Given the description of an element on the screen output the (x, y) to click on. 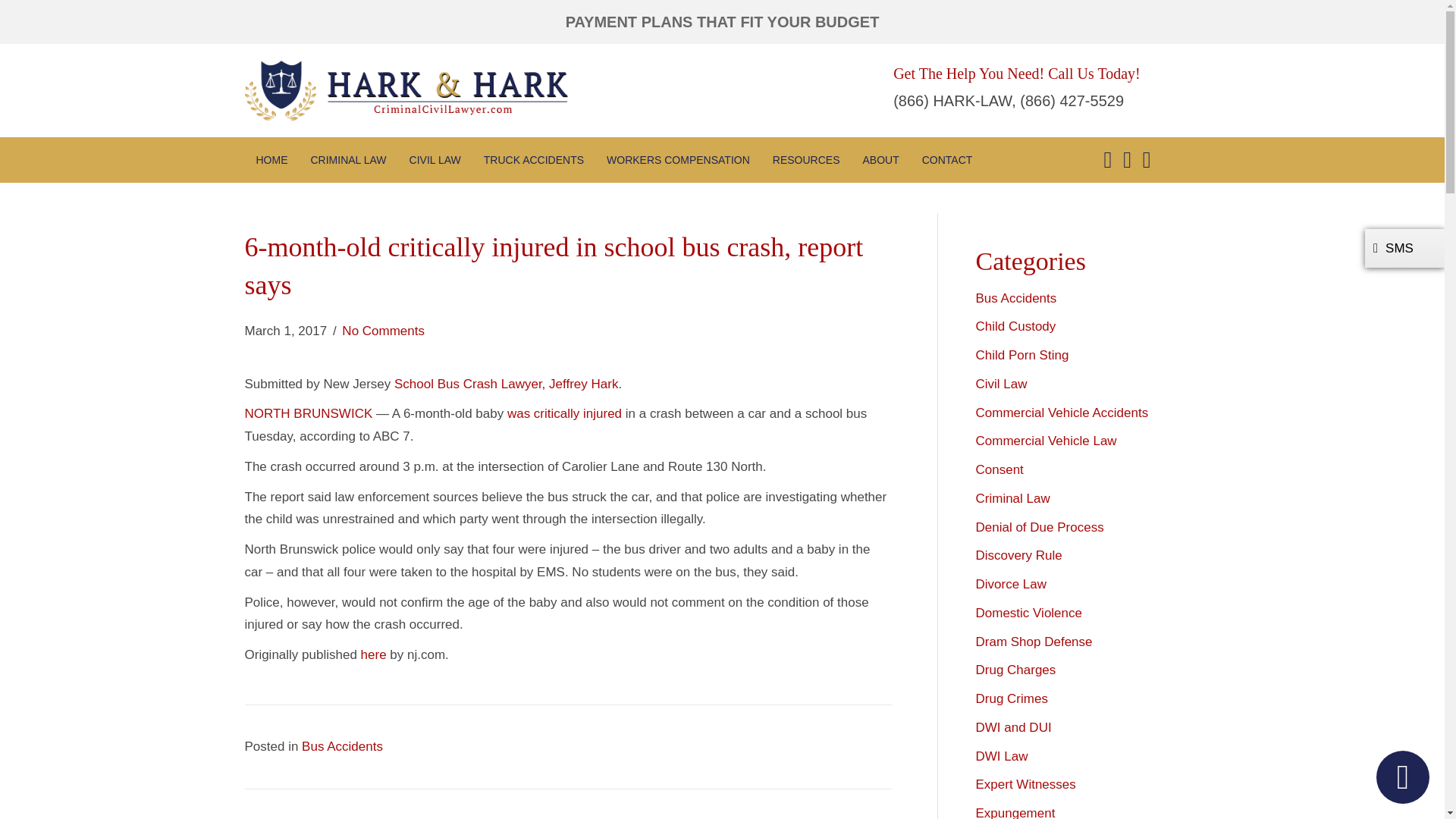
CRIMINAL LAW (348, 159)
logo (405, 89)
CIVIL LAW (434, 159)
HOME (271, 159)
